Given the description of an element on the screen output the (x, y) to click on. 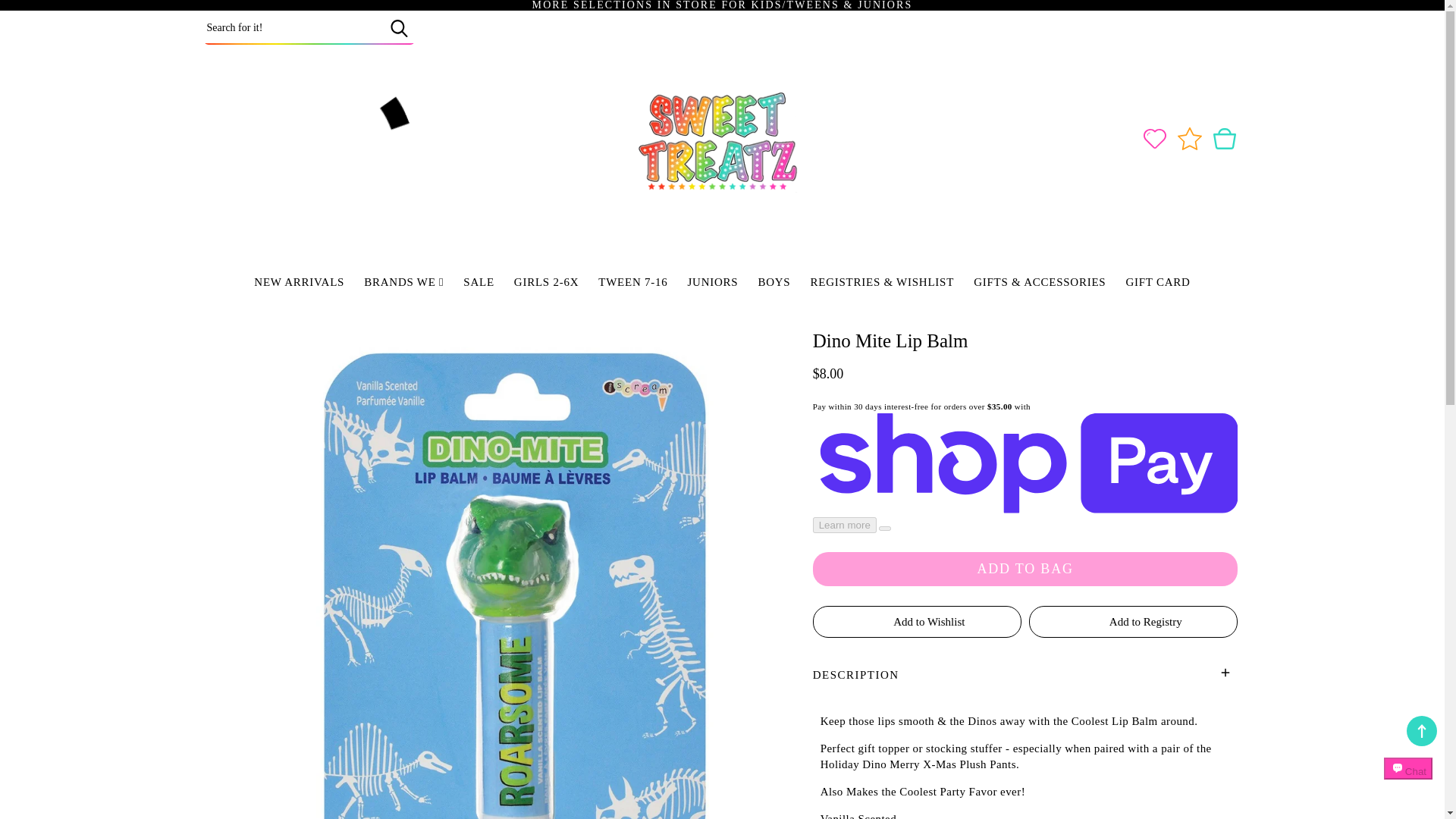
Add to Registry (1133, 622)
Back to the top (1421, 730)
SKIP TO CONTENT (45, 16)
Add to Wishlist (917, 622)
Shopify online store chat (1408, 781)
